Given the description of an element on the screen output the (x, y) to click on. 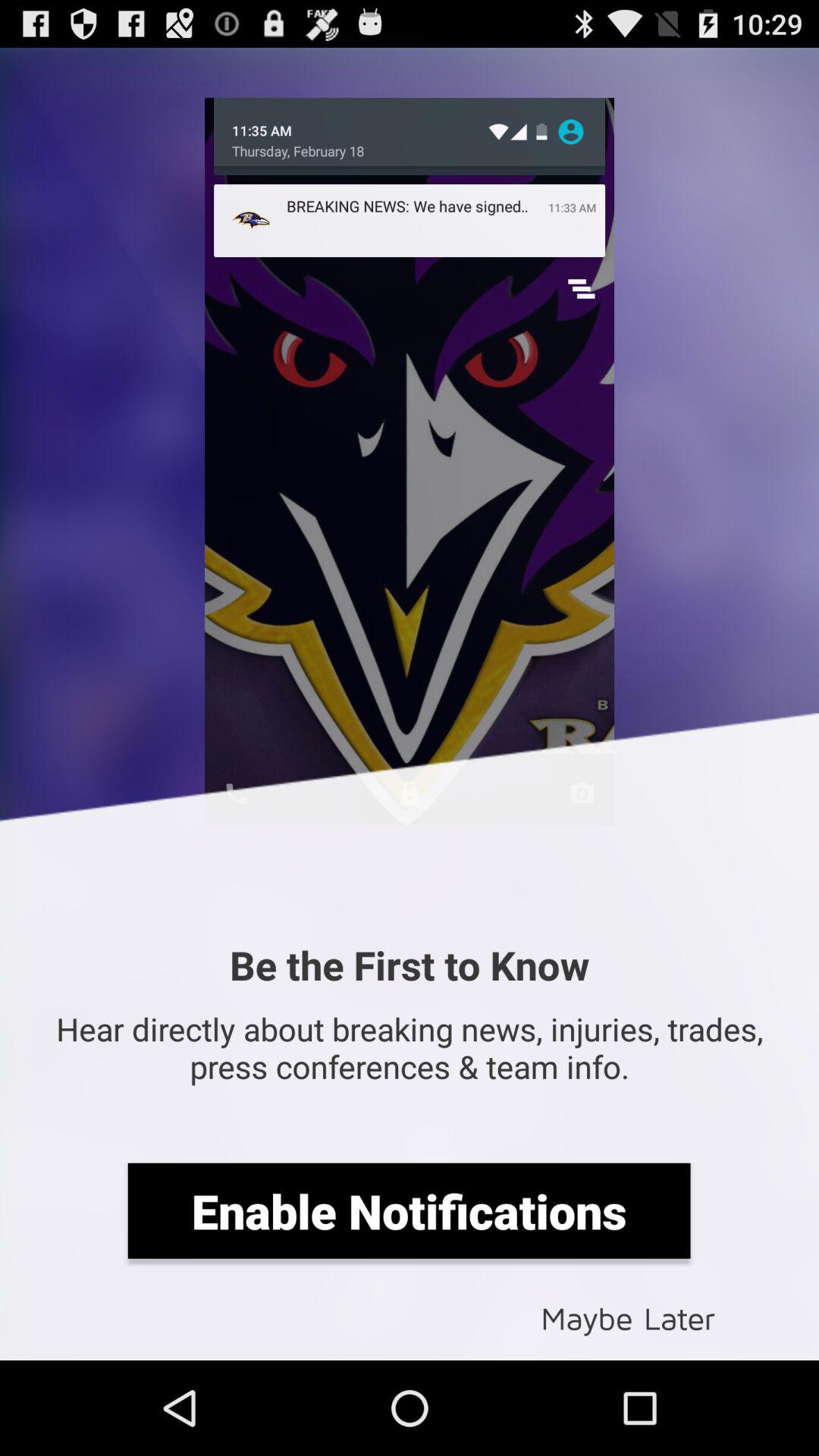
choose icon at the bottom right corner (627, 1317)
